Given the description of an element on the screen output the (x, y) to click on. 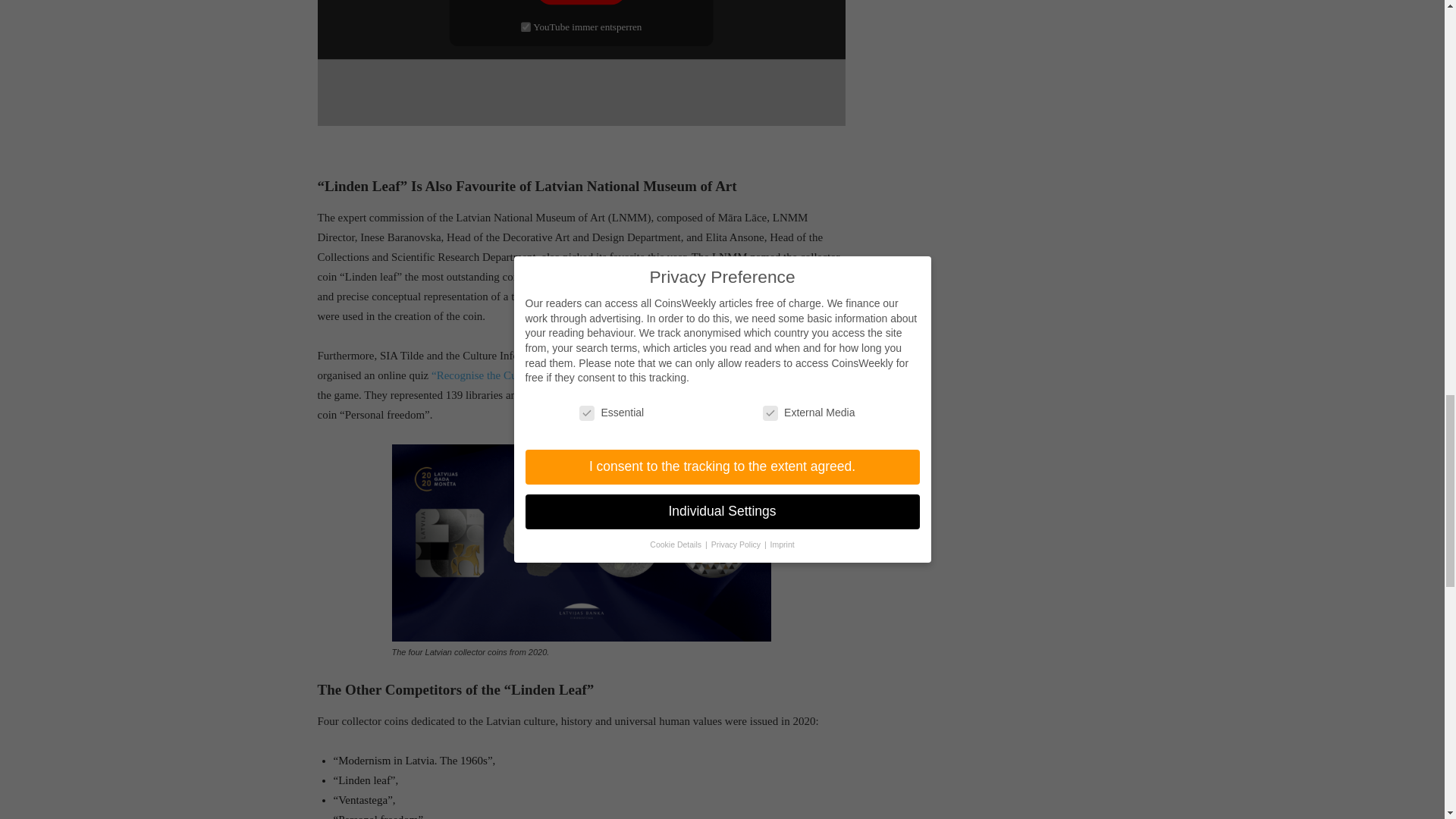
1 (526, 26)
